Given the description of an element on the screen output the (x, y) to click on. 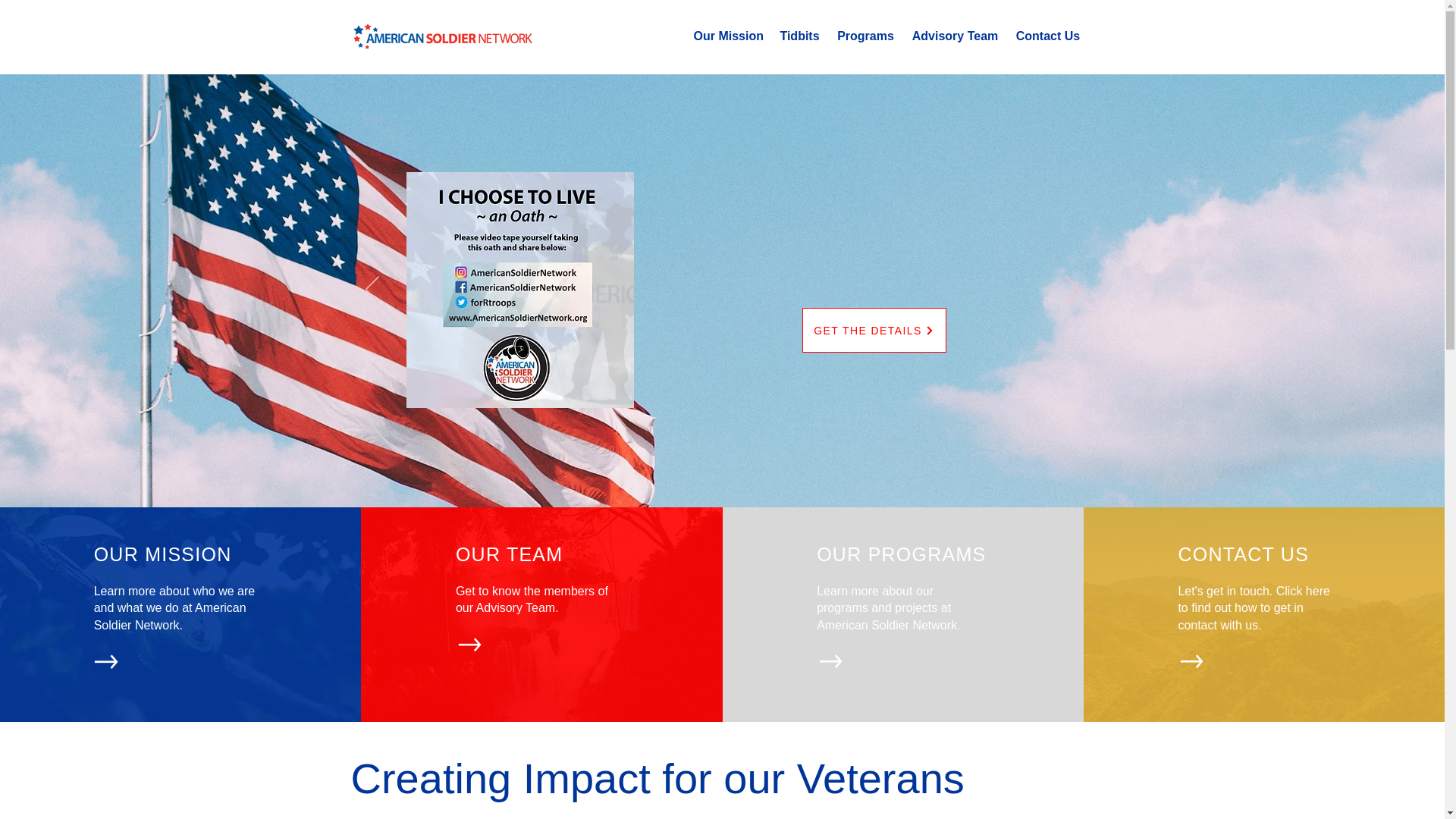
CONTACT US (1242, 554)
Tidbits (799, 36)
OUR PROGRAMS (900, 554)
Contact Us (1047, 36)
OUR MISSION (162, 554)
Advisory Team (954, 36)
Programs (865, 36)
OUR TEAM (509, 554)
Our Mission (727, 36)
GET THE DETAILS (874, 329)
asn-only.jpg (442, 36)
